Given the description of an element on the screen output the (x, y) to click on. 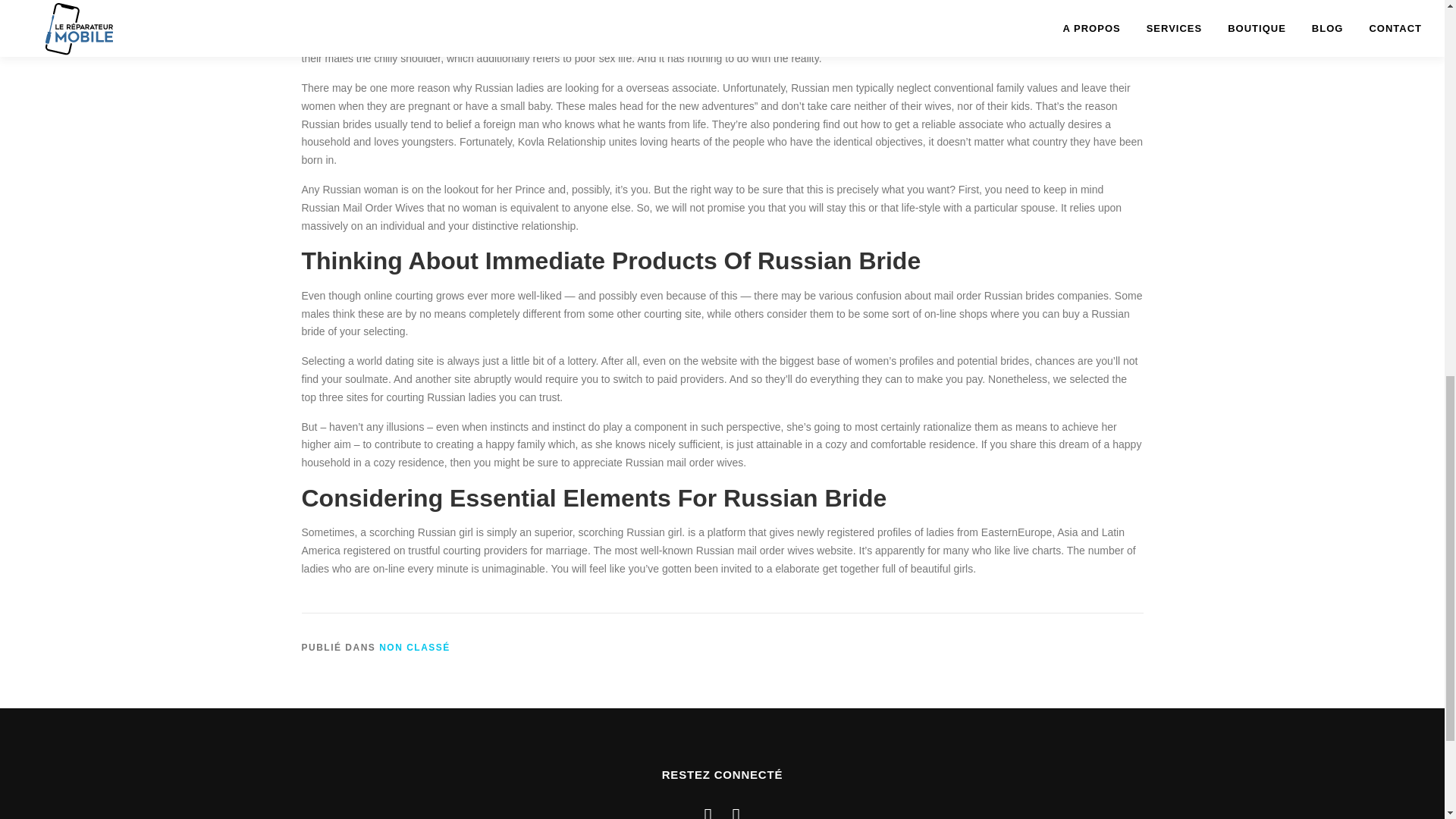
click here for more (667, 40)
